Given the description of an element on the screen output the (x, y) to click on. 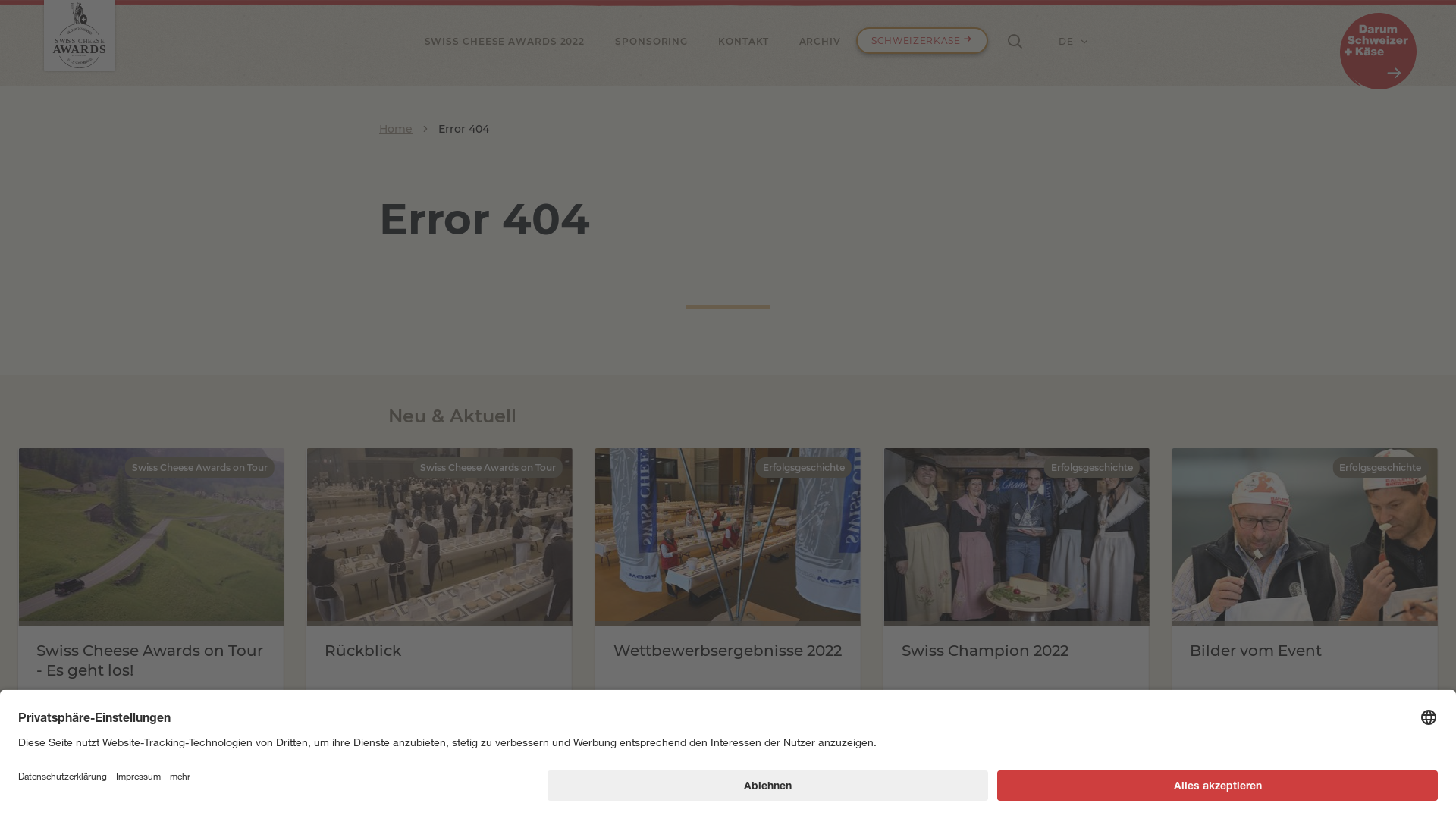
ARCHIV Element type: text (819, 41)
Erfolgsgeschichte
Bilder vom Event Element type: text (1304, 589)
SWISS CHEESE AWARDS 2022 Element type: text (505, 41)
KONTAKT Element type: text (742, 41)
Error 404 Element type: text (463, 128)
Erfolgsgeschichte
Wettbewerbsergebnisse 2022 Element type: text (727, 589)
SPONSORING Element type: text (651, 41)
Home Element type: text (395, 128)
Erfolgsgeschichte
Swiss Champion 2022 Element type: text (1016, 589)
